Given the description of an element on the screen output the (x, y) to click on. 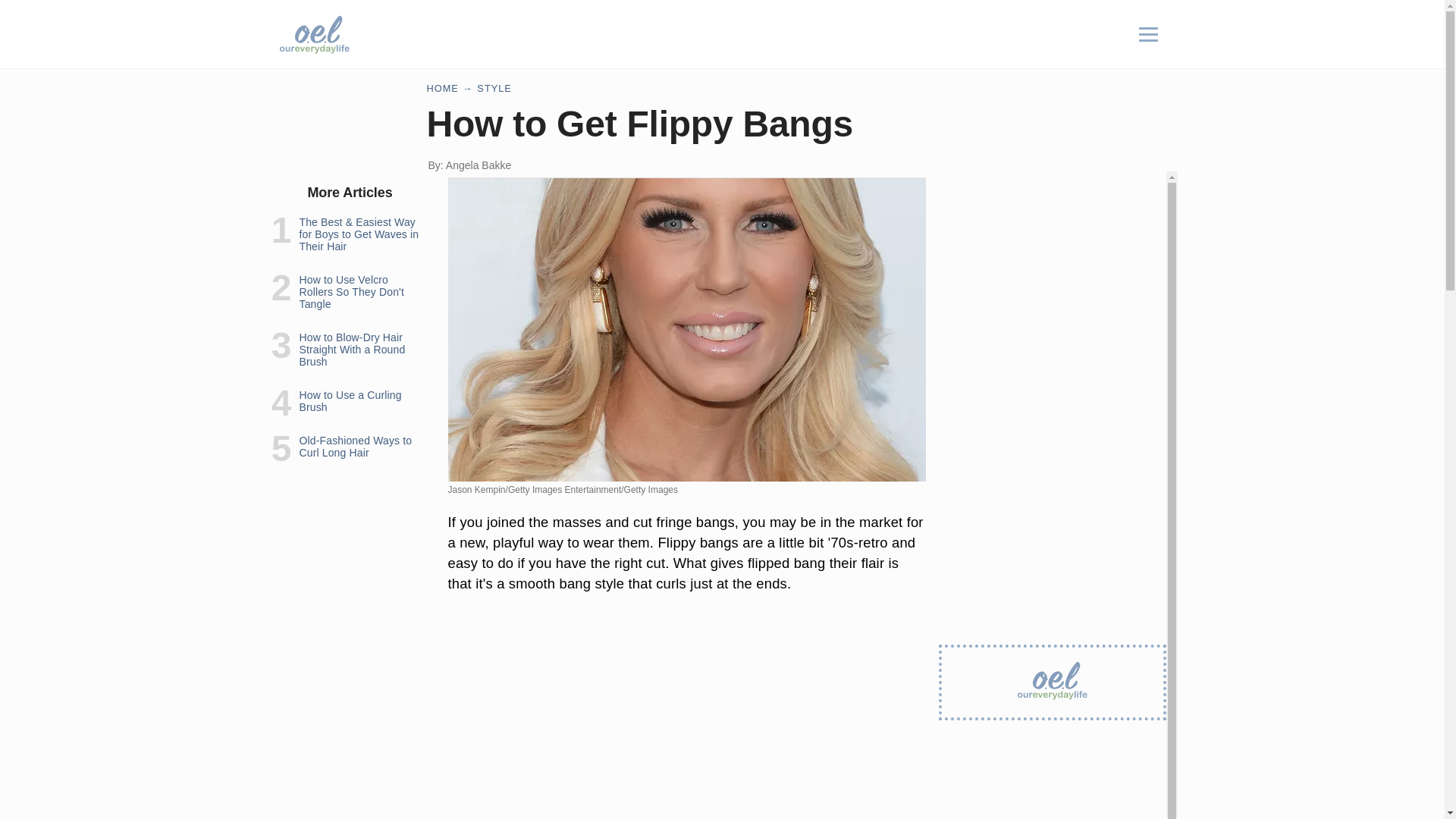
Old-Fashioned Ways to Curl Long Hair (355, 446)
How to Use a Curling Brush (349, 401)
STYLE (494, 88)
Advertisement (686, 712)
How to Use Velcro Rollers So They Don't Tangle (350, 291)
HOME (442, 88)
How to Blow-Dry Hair Straight With a Round Brush (351, 349)
